Given the description of an element on the screen output the (x, y) to click on. 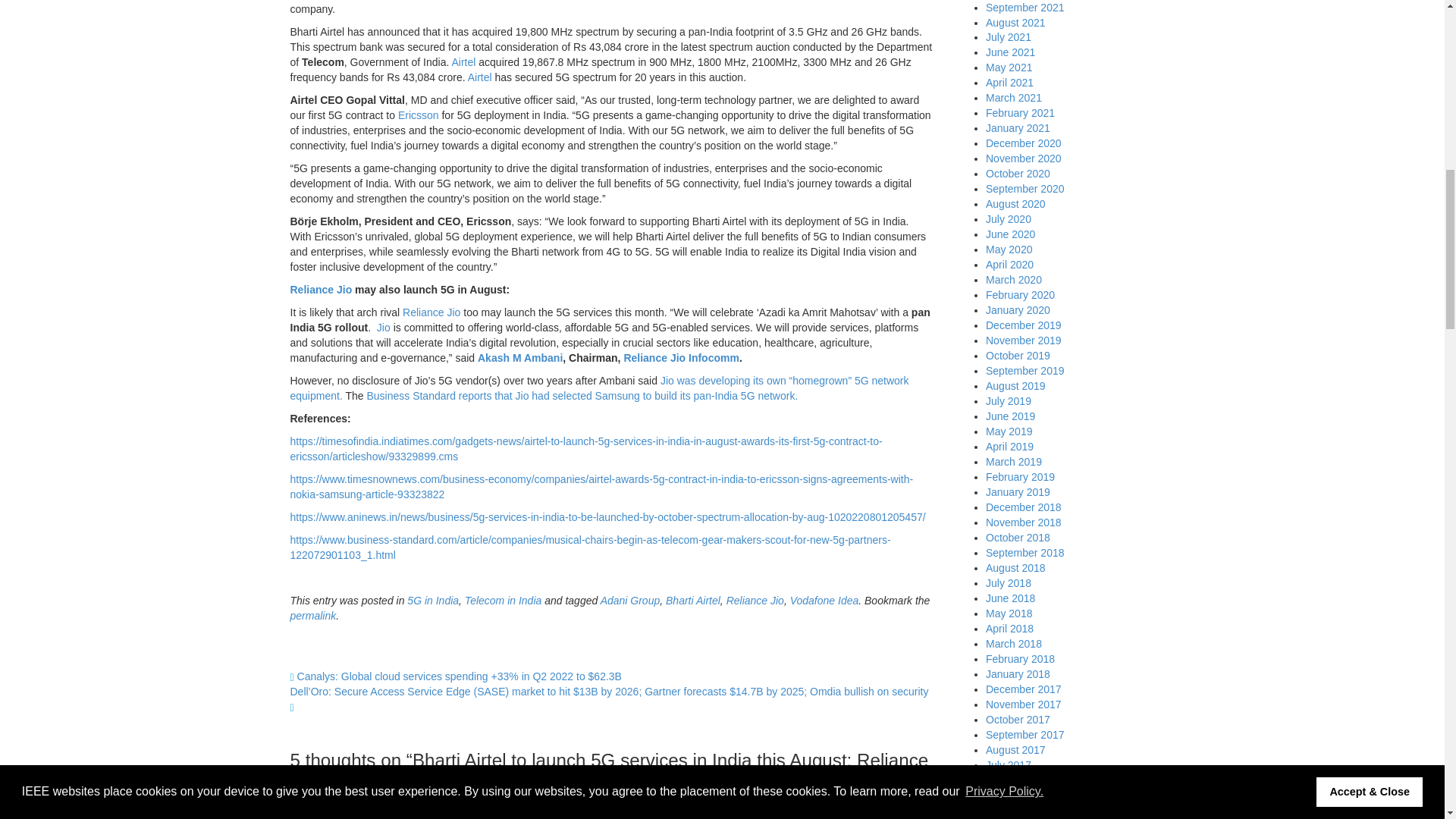
Airtel (463, 61)
Ericsson (418, 114)
Akash M Ambani (519, 357)
Airtel (479, 77)
Reliance Jio (320, 289)
Reliance Jio Infocomm (680, 357)
Reliance Jio (431, 312)
Jio (383, 327)
